Given the description of an element on the screen output the (x, y) to click on. 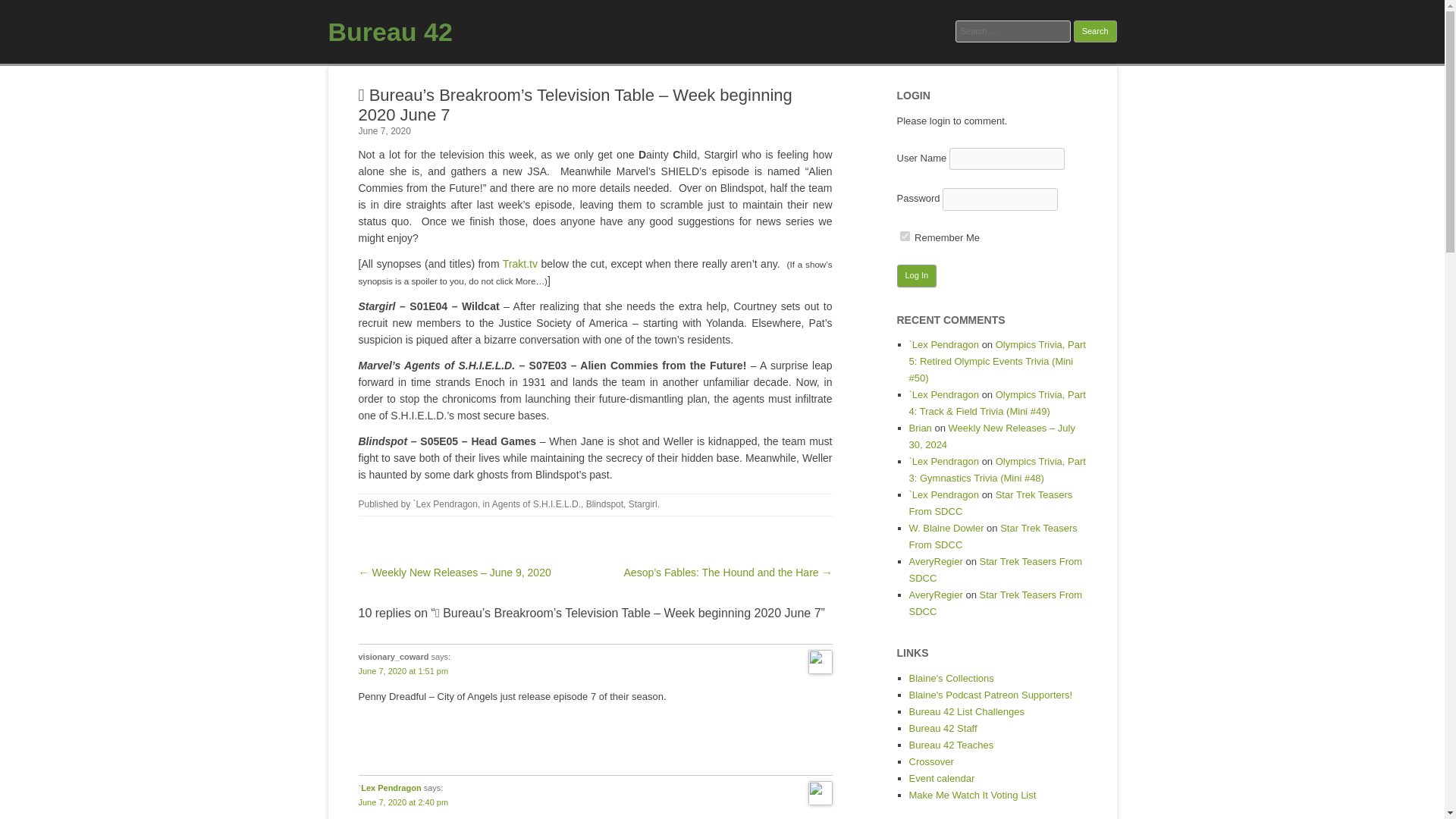
Bureau 42 (389, 31)
Skip to content (757, 71)
June 7, 2020 at 2:40 pm (403, 801)
Stargirl (643, 503)
Log In (916, 275)
Agents of S.H.I.E.L.D. (536, 503)
The home of our new annual list challenges. (966, 711)
forever (903, 235)
Trakt.tv (519, 263)
Log In (916, 275)
Skip to content (757, 71)
9:10 am (384, 131)
Blindspot (604, 503)
Bureau 42 (389, 31)
